Given the description of an element on the screen output the (x, y) to click on. 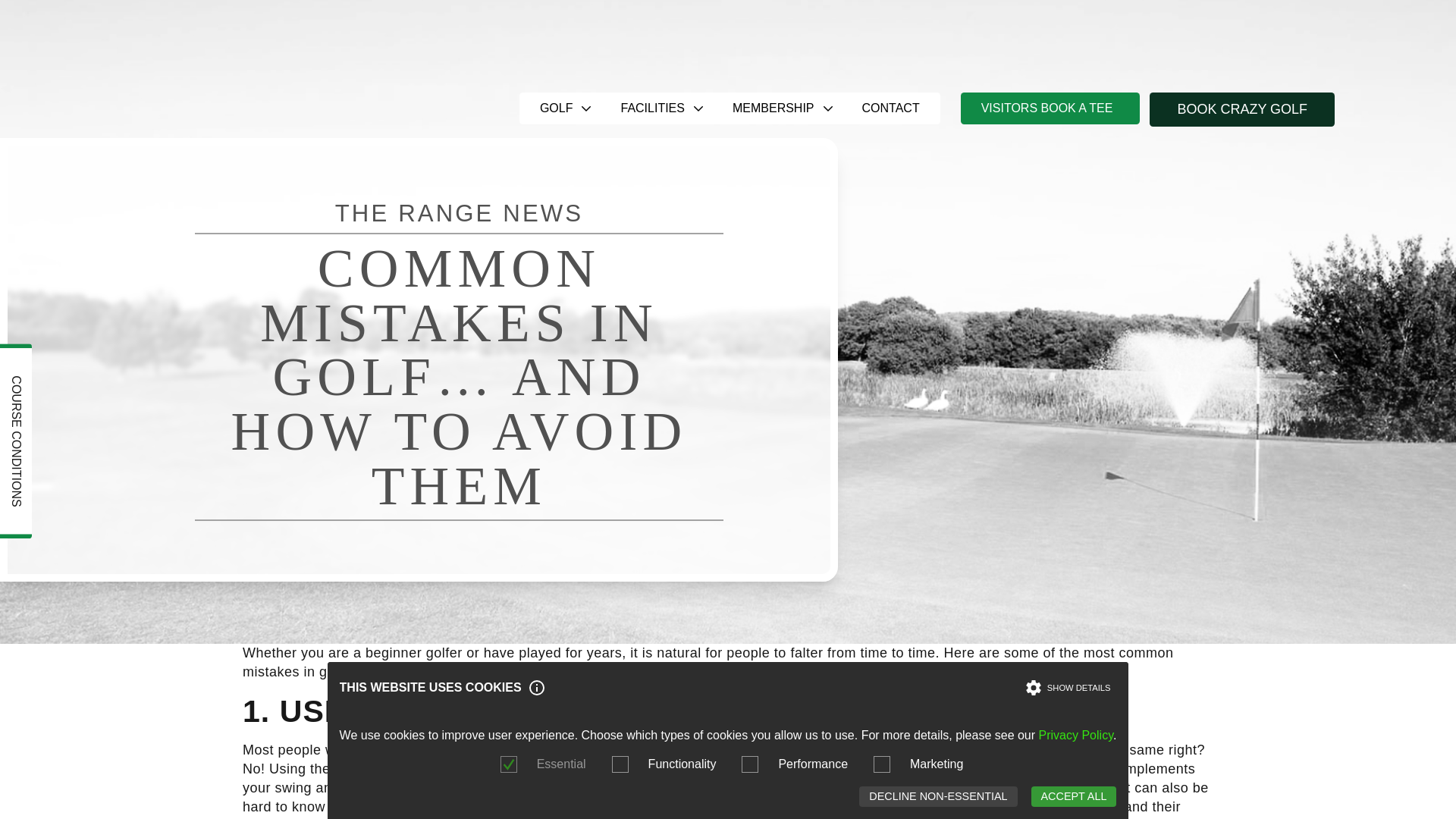
BOOK CRAZY GOLF (1242, 109)
COURSE CONDITIONS (97, 359)
MEMBERSHIP (776, 108)
VISITORS BOOK A TEE (1050, 108)
FACILITIES (655, 108)
CONTACT (890, 108)
GOLF (559, 108)
